Given the description of an element on the screen output the (x, y) to click on. 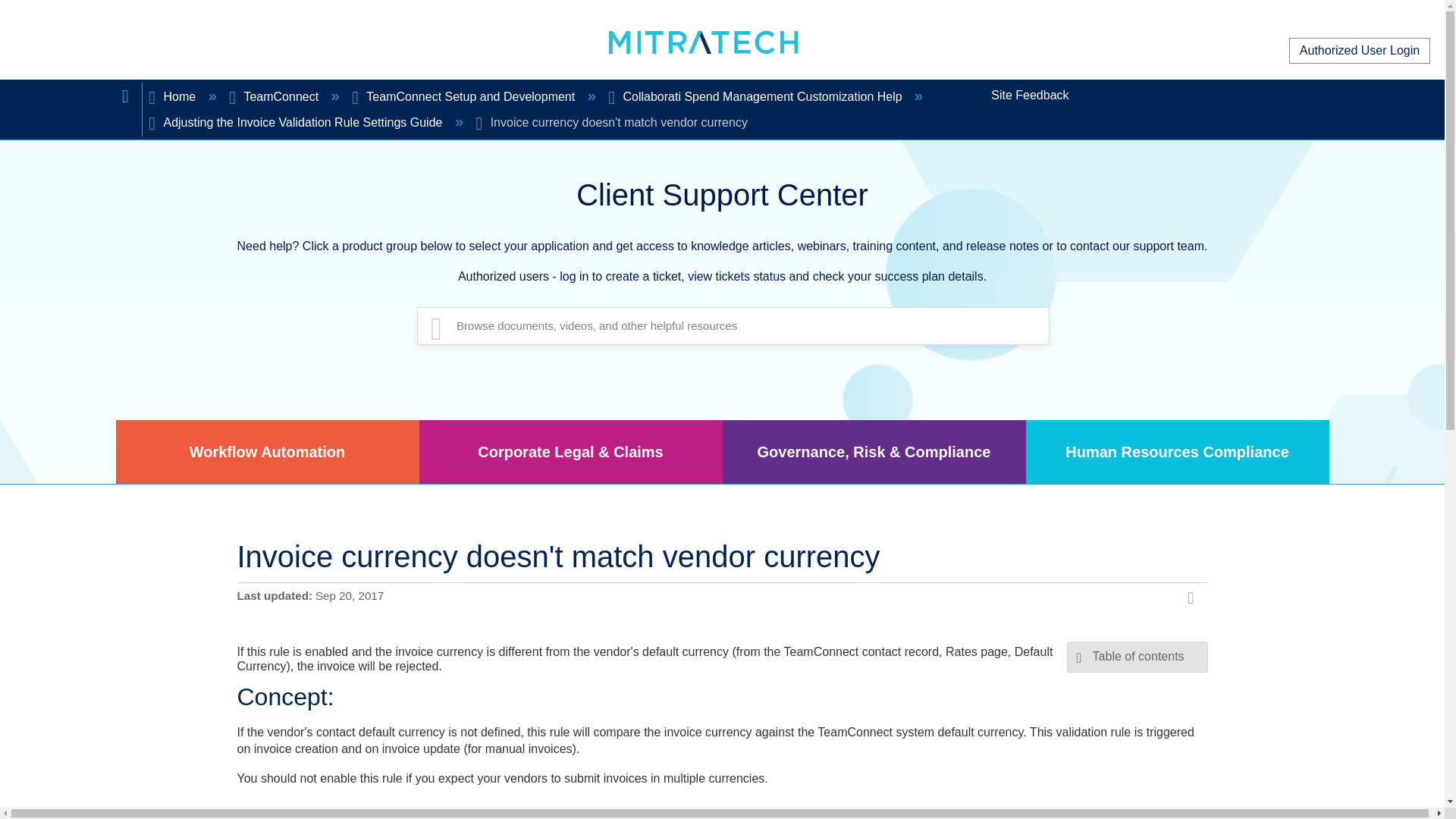
Home (173, 96)
Authorized User Login (1358, 50)
TeamConnect (274, 96)
TeamConnect Setup and Development (465, 96)
Site Feedback (1029, 95)
Human Resources Compliance (1176, 451)
Adjusting the Invoice Validation Rule Settings Guide (296, 122)
Collaborati Spend Management Customization Help (756, 96)
Workflow Automation (267, 451)
Table of contents (1137, 656)
